Given the description of an element on the screen output the (x, y) to click on. 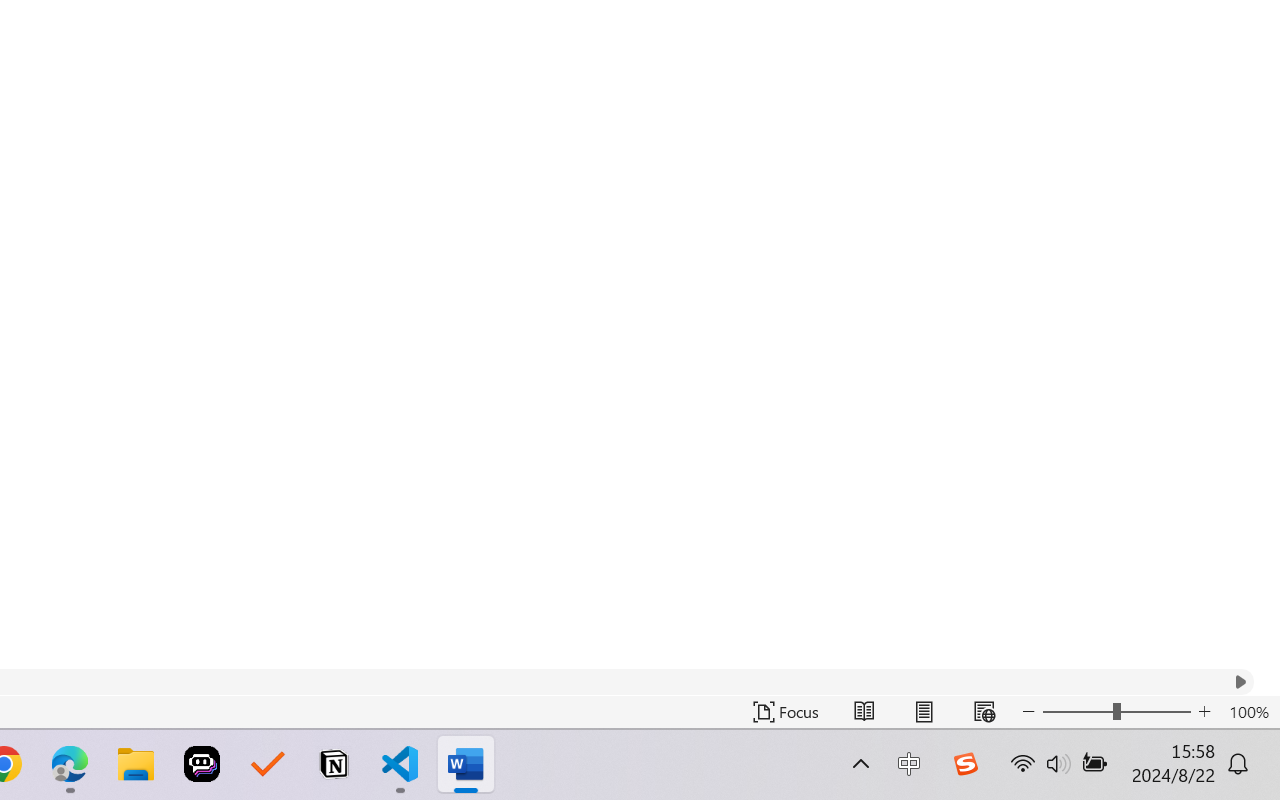
Read Mode (864, 712)
Print Layout (924, 712)
Class: Image (965, 764)
Zoom Out (1077, 712)
Zoom (1116, 712)
Focus  (786, 712)
Web Layout (984, 712)
Column right (1240, 681)
Zoom In (1204, 712)
Zoom 100% (1249, 712)
